Given the description of an element on the screen output the (x, y) to click on. 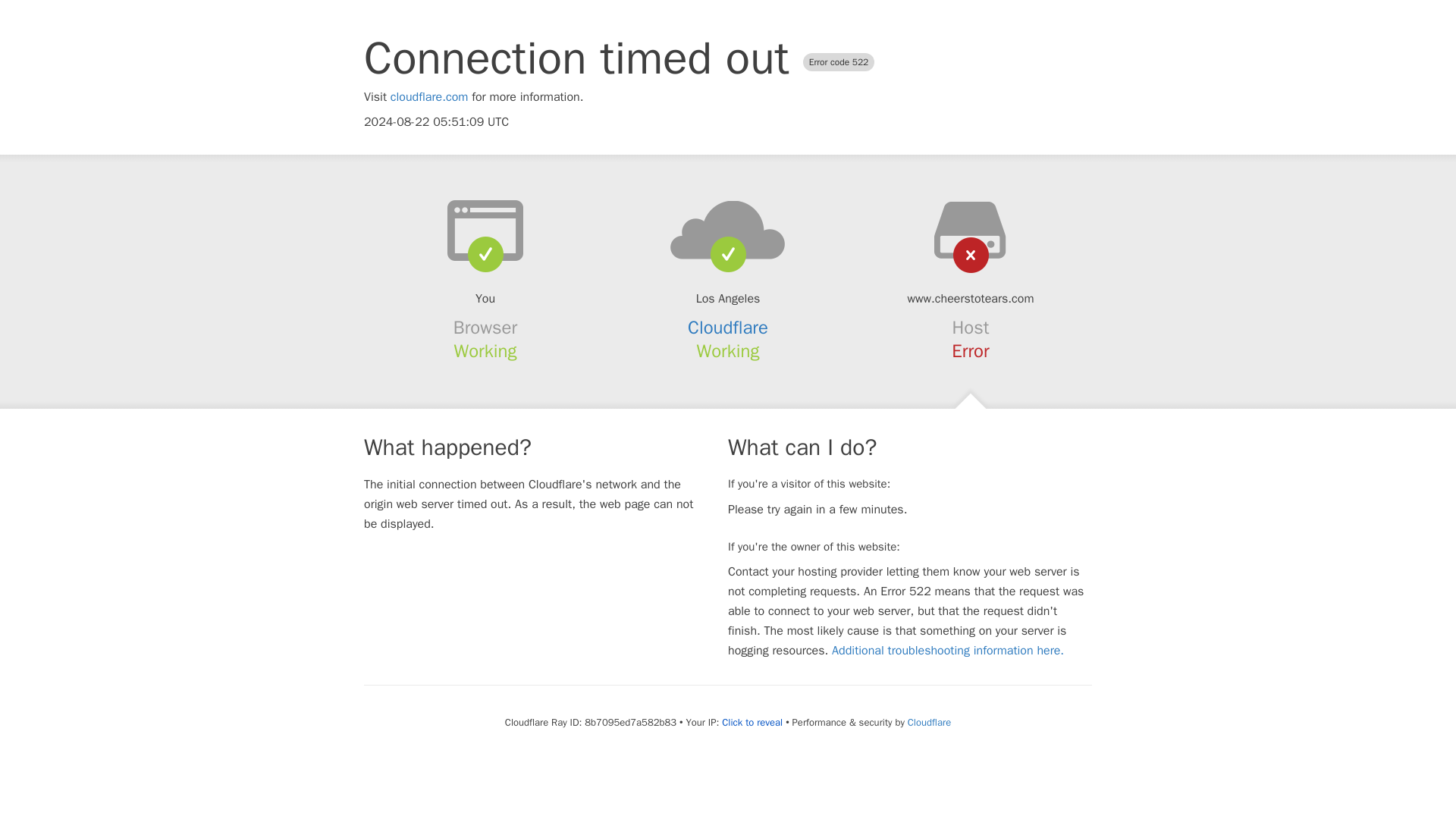
Click to reveal (752, 722)
Cloudflare (727, 327)
cloudflare.com (429, 96)
Additional troubleshooting information here. (947, 650)
Cloudflare (928, 721)
